Given the description of an element on the screen output the (x, y) to click on. 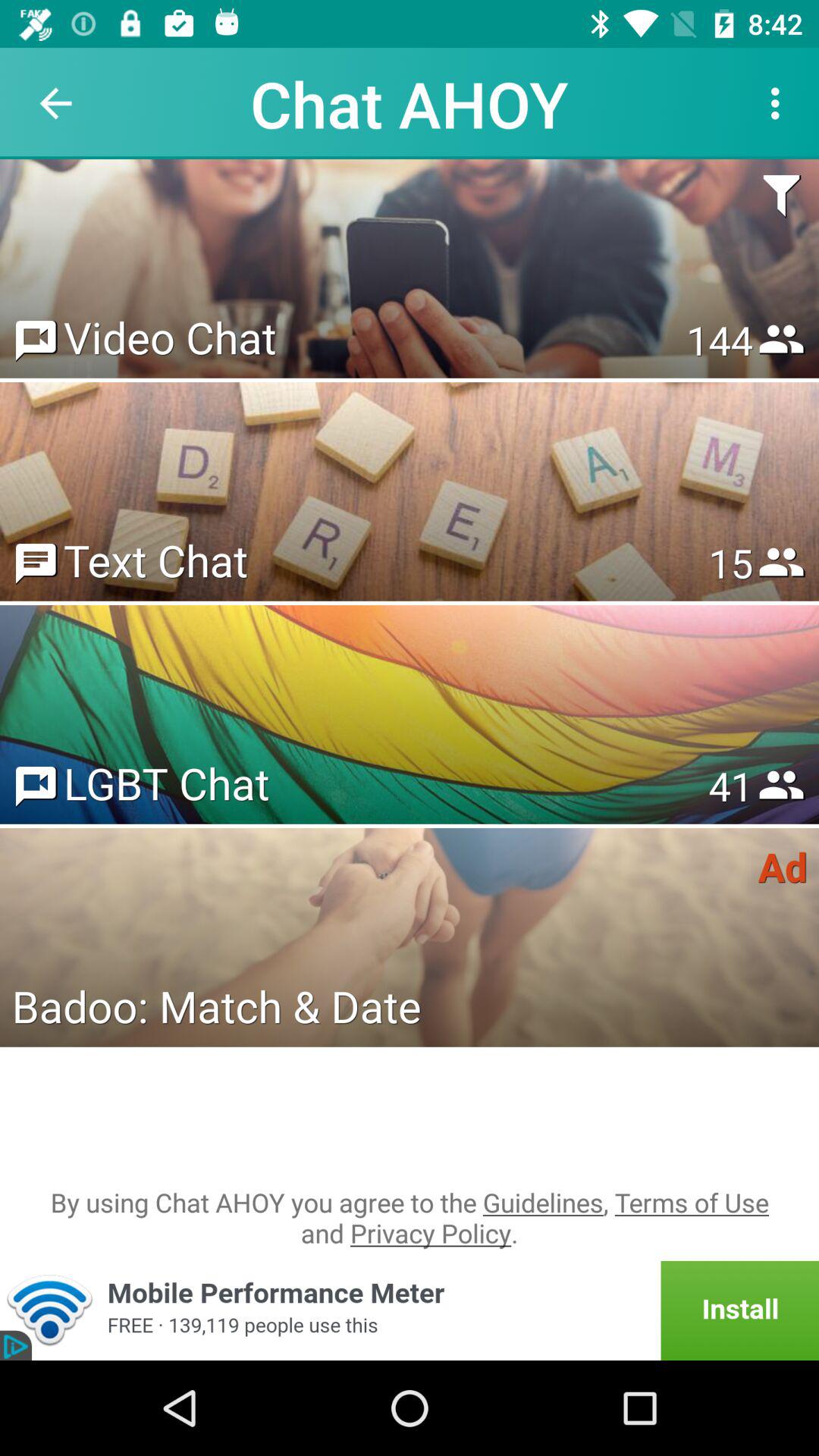
tap icon next to the 153 (169, 336)
